Given the description of an element on the screen output the (x, y) to click on. 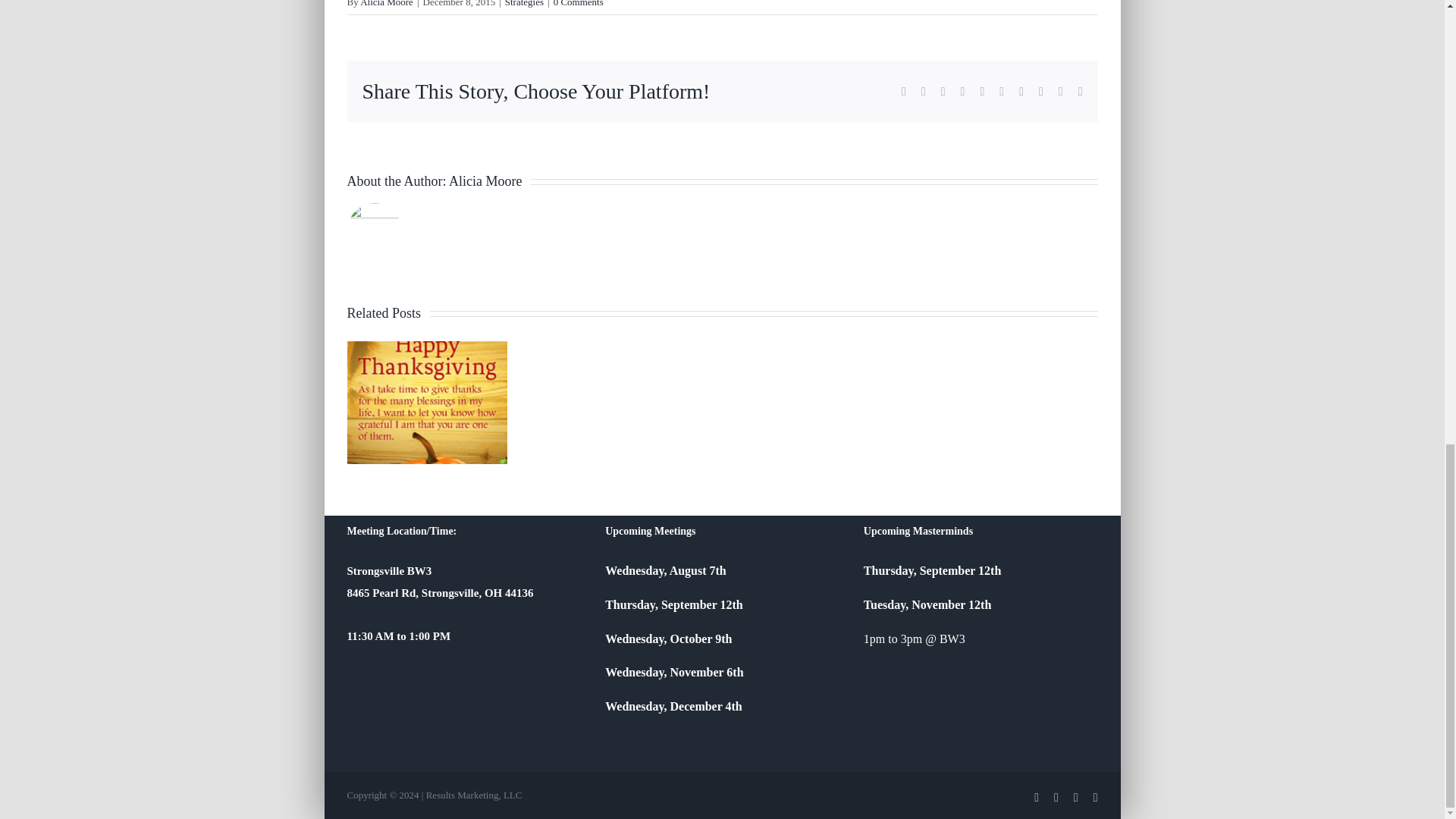
0 Comments (578, 3)
Strategies (524, 3)
Posts by Alicia Moore (484, 181)
Alicia Moore (484, 181)
Posts by Alicia Moore (386, 3)
Alicia Moore (386, 3)
